Given the description of an element on the screen output the (x, y) to click on. 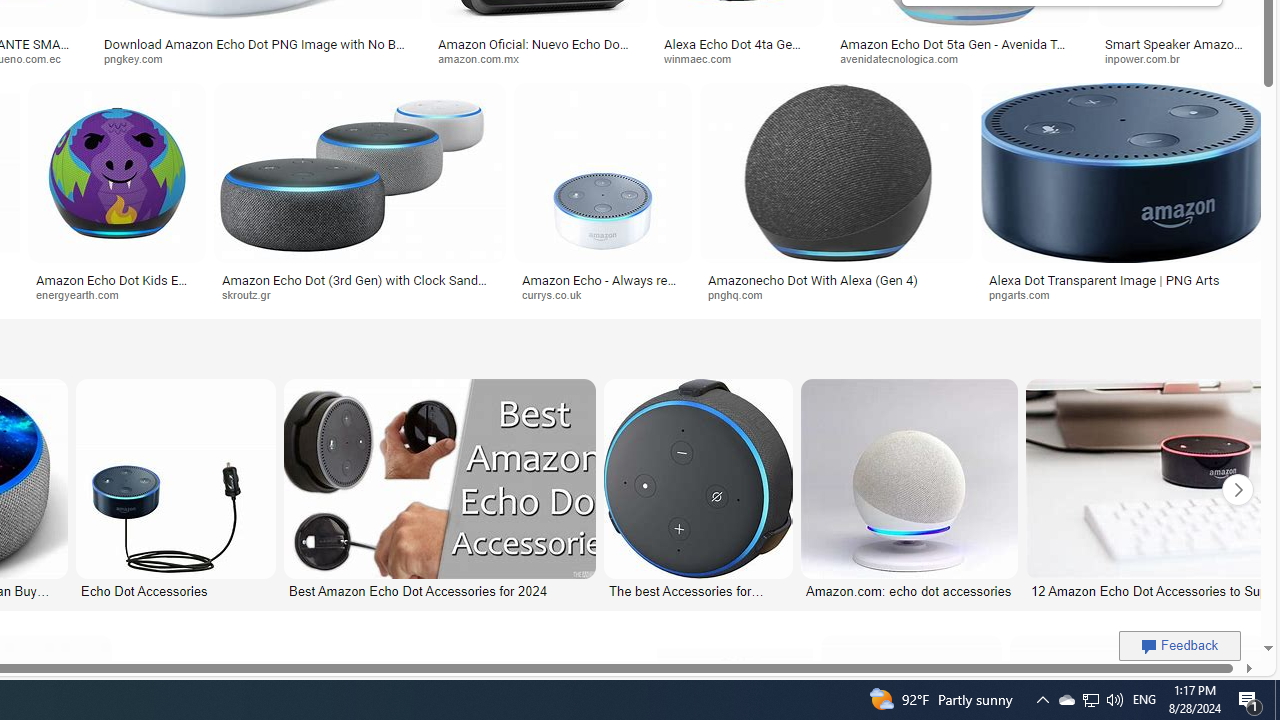
inpower.com.br (1149, 57)
skroutz.gr (253, 294)
pngkey.com (258, 58)
Image result for Amazon Echo Dot PNG (1122, 172)
